Given the description of an element on the screen output the (x, y) to click on. 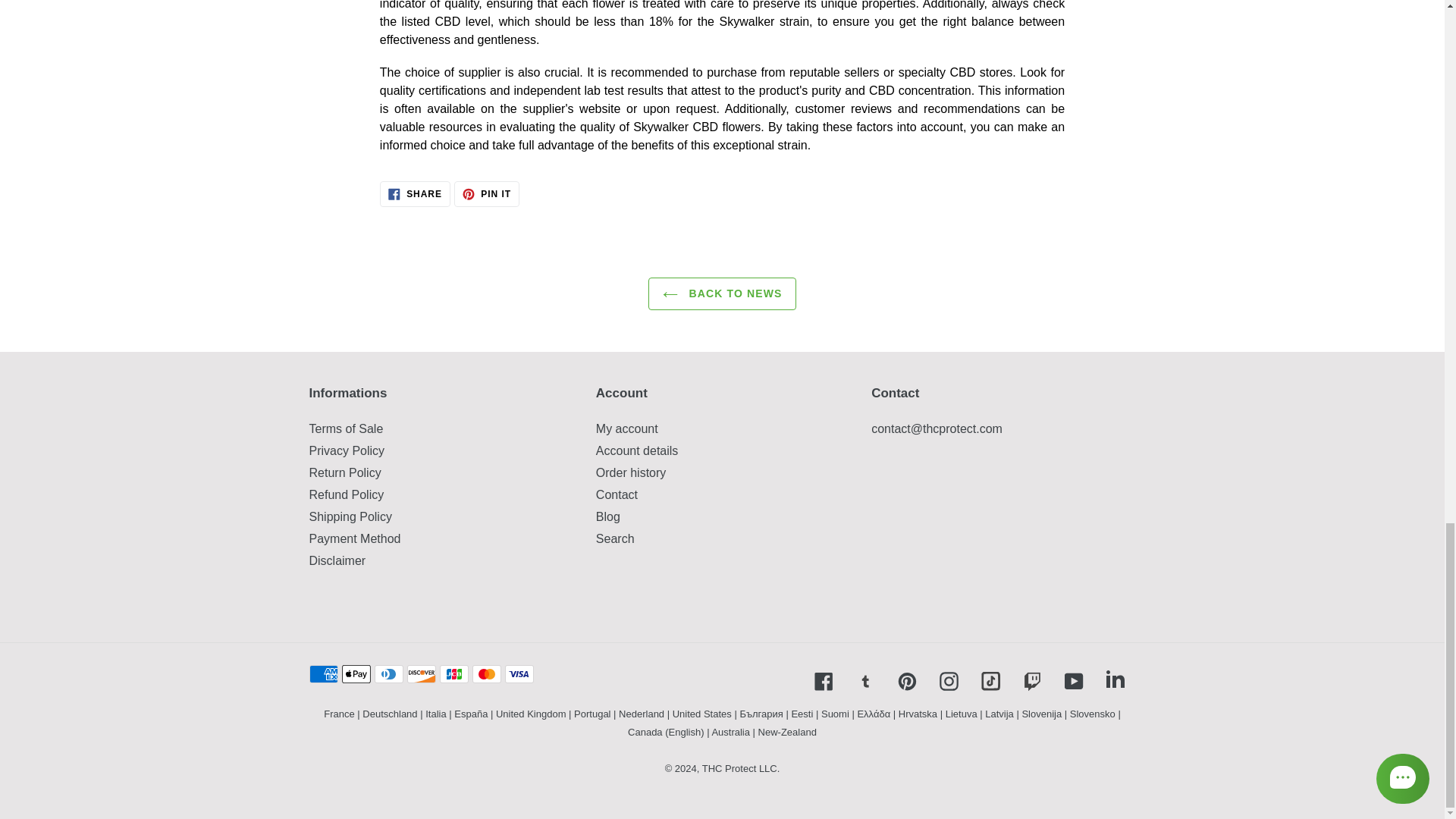
Contact (616, 494)
My account (626, 428)
Privacy Policy (346, 450)
Shipping Policy (349, 516)
BACK TO NEWS (721, 293)
Blog (607, 516)
Payment Method (354, 538)
Return Policy (344, 472)
Account details (636, 450)
Terms of Sale (346, 428)
Disclaimer (337, 560)
Refund Policy (414, 193)
Order history (486, 193)
